Given the description of an element on the screen output the (x, y) to click on. 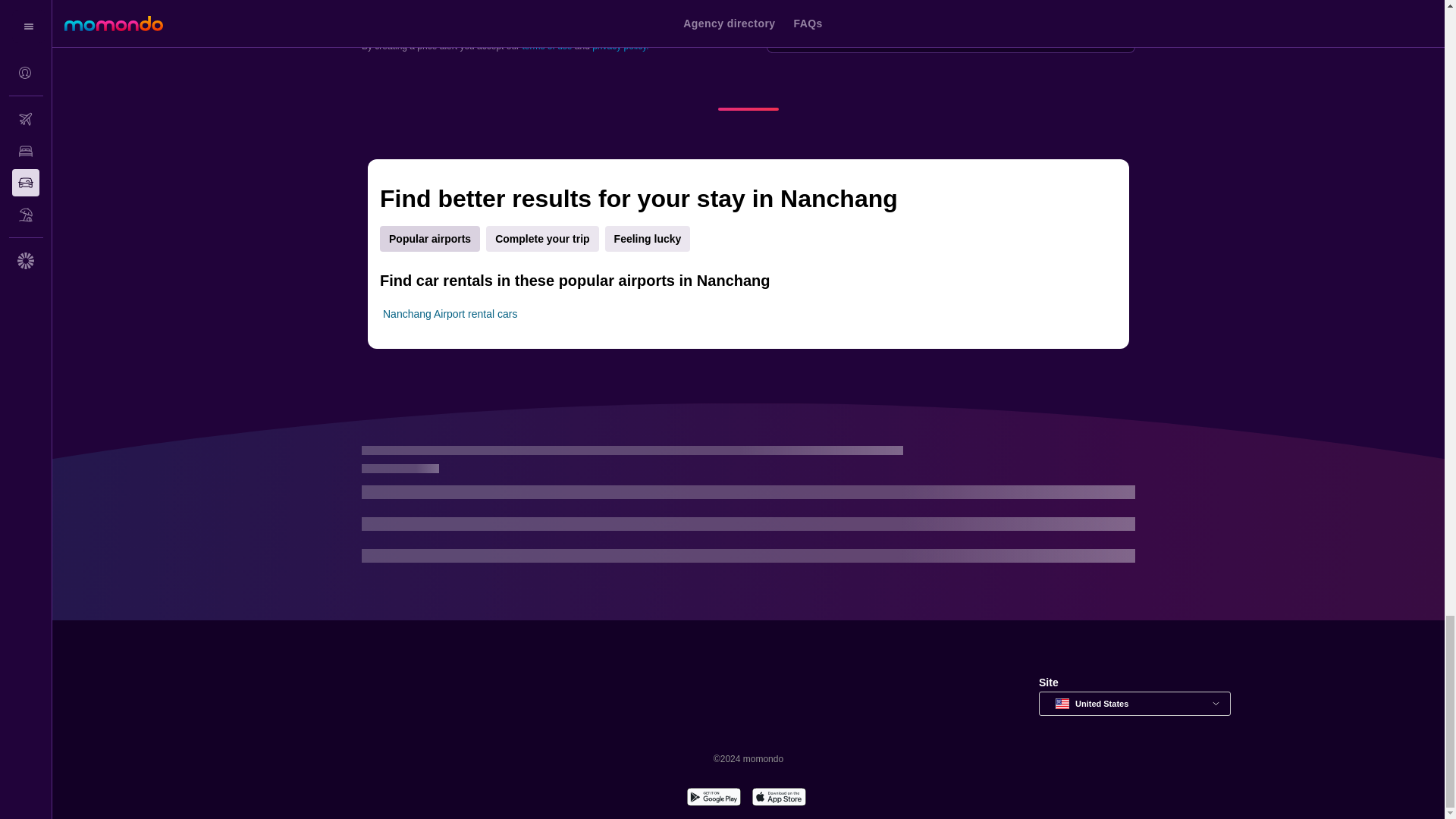
Complete your trip (542, 238)
Create a Price Alert (447, 16)
Download on the App Store (778, 798)
Nanchang Airport rental cars (449, 313)
Feeling lucky (647, 238)
privacy policy. (619, 45)
Popular airports (430, 238)
Get it on Google Play (713, 798)
terms of use (546, 45)
